Given the description of an element on the screen output the (x, y) to click on. 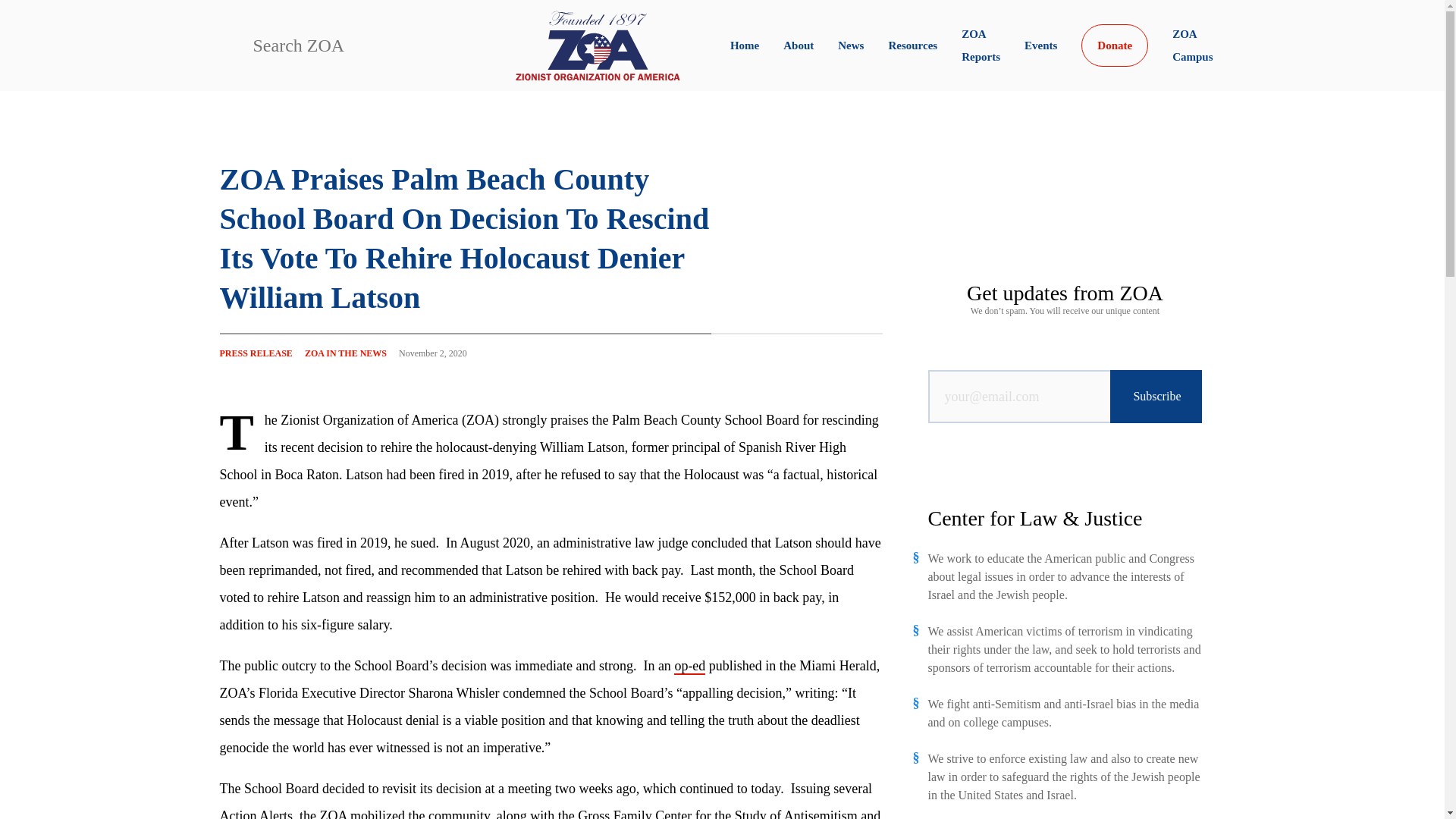
ZOA Campus (1192, 45)
Donate (1114, 45)
ZOA Reports (980, 45)
Events (1041, 45)
News (850, 45)
PRESS RELEASE (255, 352)
Resources (912, 45)
ZOA IN THE NEWS (345, 352)
About (798, 45)
Subscribe (1155, 396)
Home (744, 45)
